Given the description of an element on the screen output the (x, y) to click on. 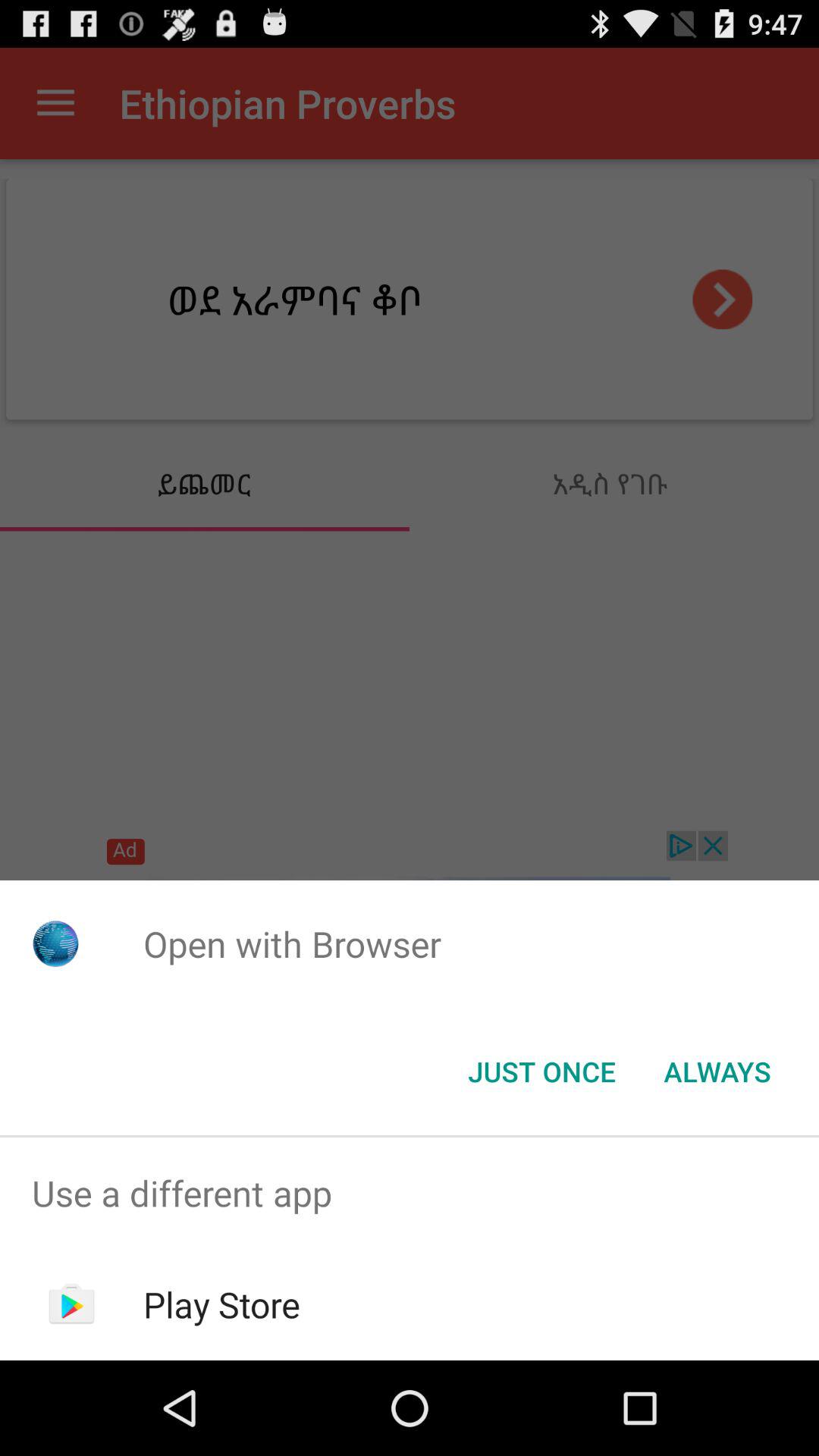
scroll until use a different (409, 1192)
